Given the description of an element on the screen output the (x, y) to click on. 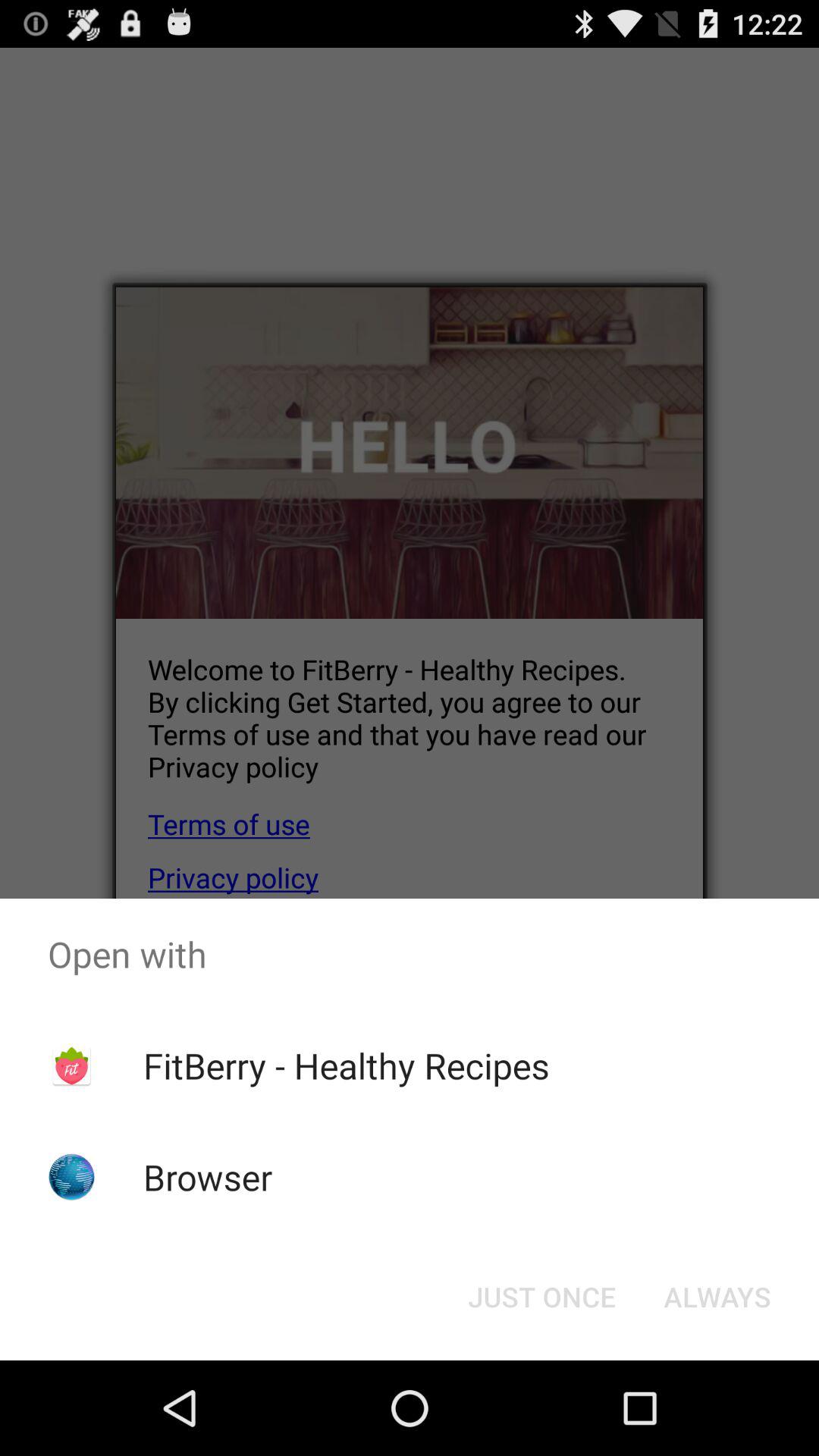
open the item at the bottom right corner (717, 1296)
